Given the description of an element on the screen output the (x, y) to click on. 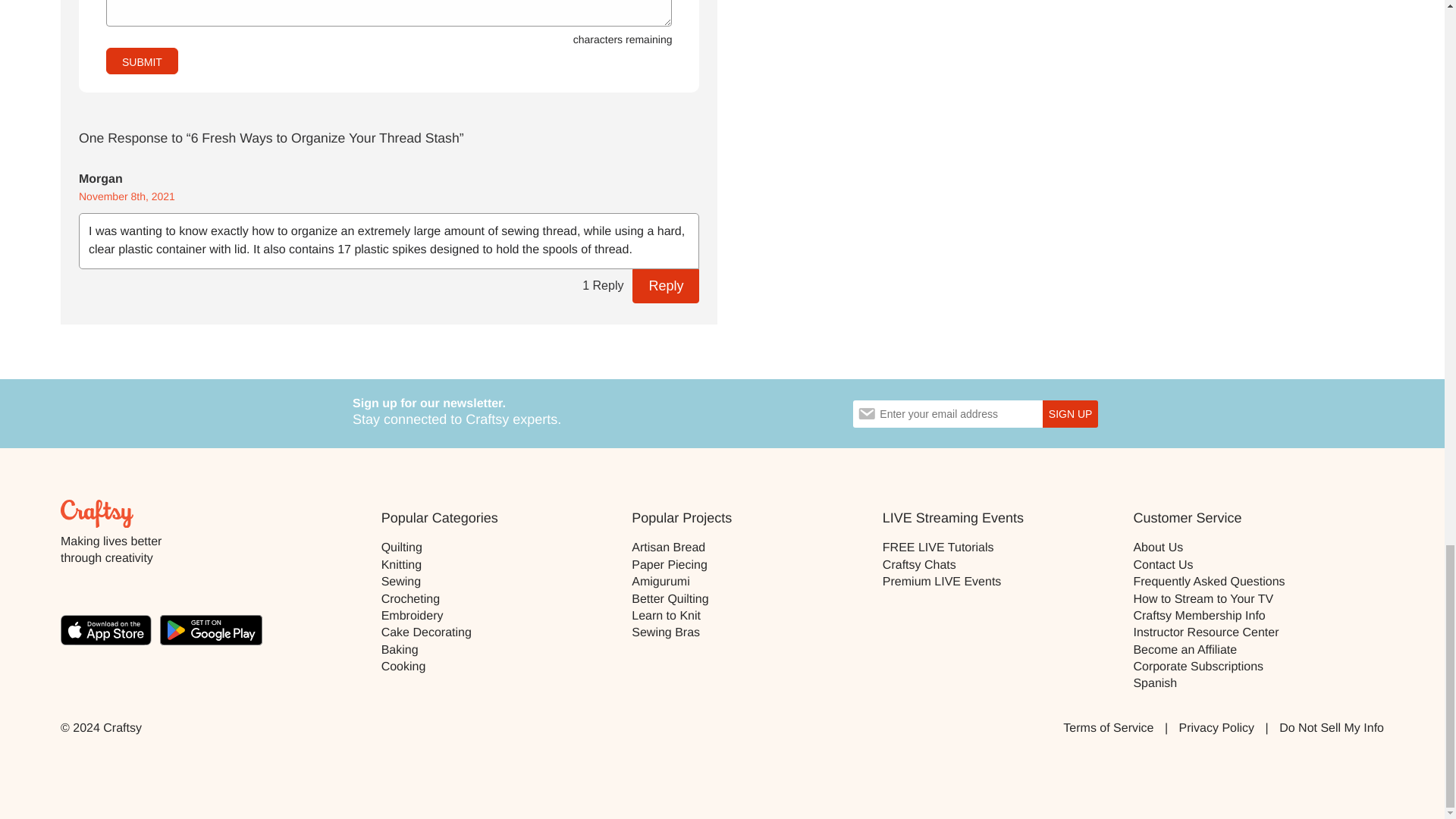
Sign Up (1069, 413)
Text Link Badge to Apple (110, 632)
Reply (664, 286)
1 Reply (602, 286)
Sign Up (1069, 413)
Submit (141, 60)
Submit (141, 60)
Home (97, 513)
